Given the description of an element on the screen output the (x, y) to click on. 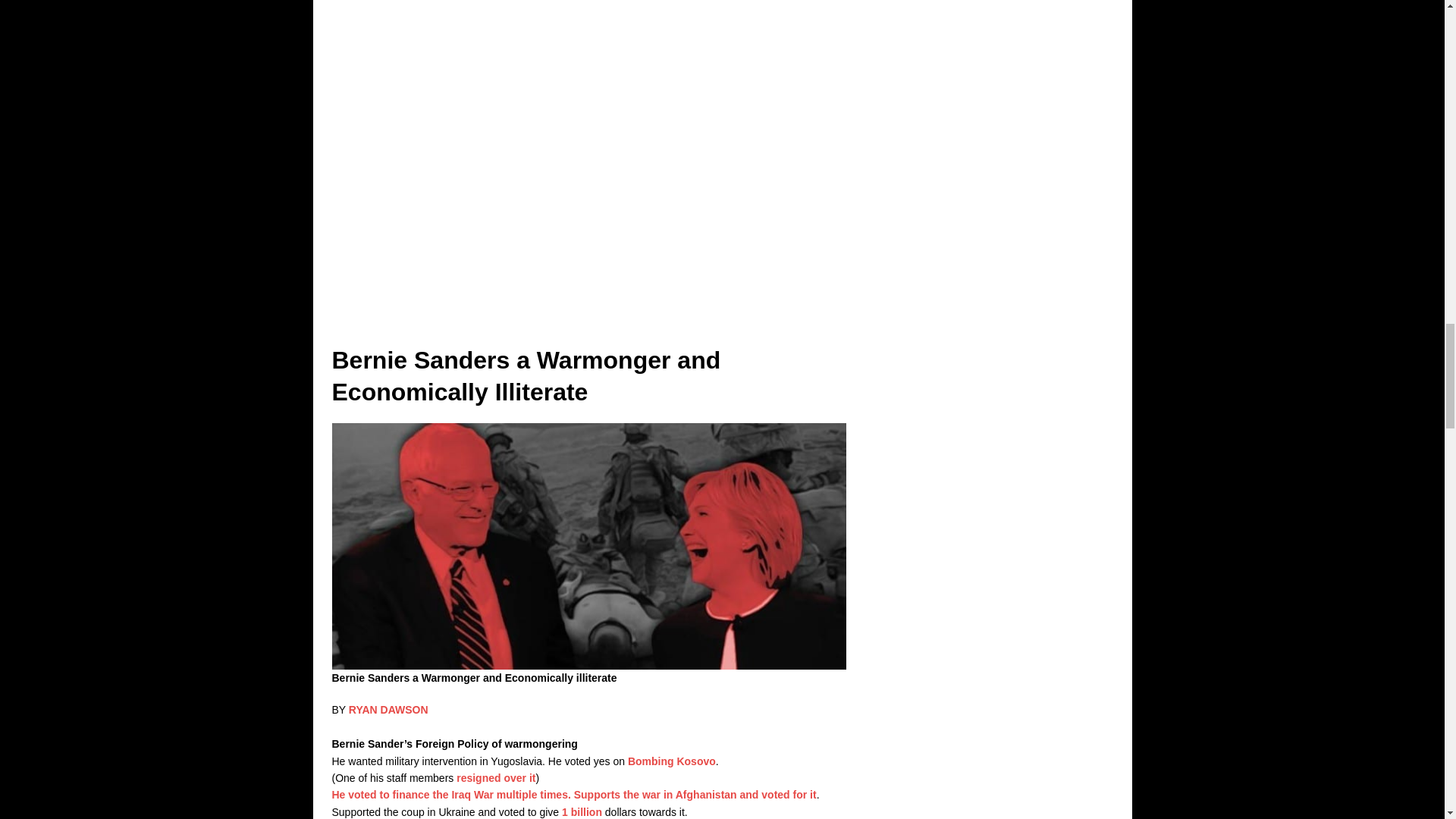
Bombing Kosovo (671, 761)
RYAN DAWSON (388, 709)
1 billion (582, 811)
resigned over it (496, 777)
Posts by Ryan Dawson (388, 709)
